Given the description of an element on the screen output the (x, y) to click on. 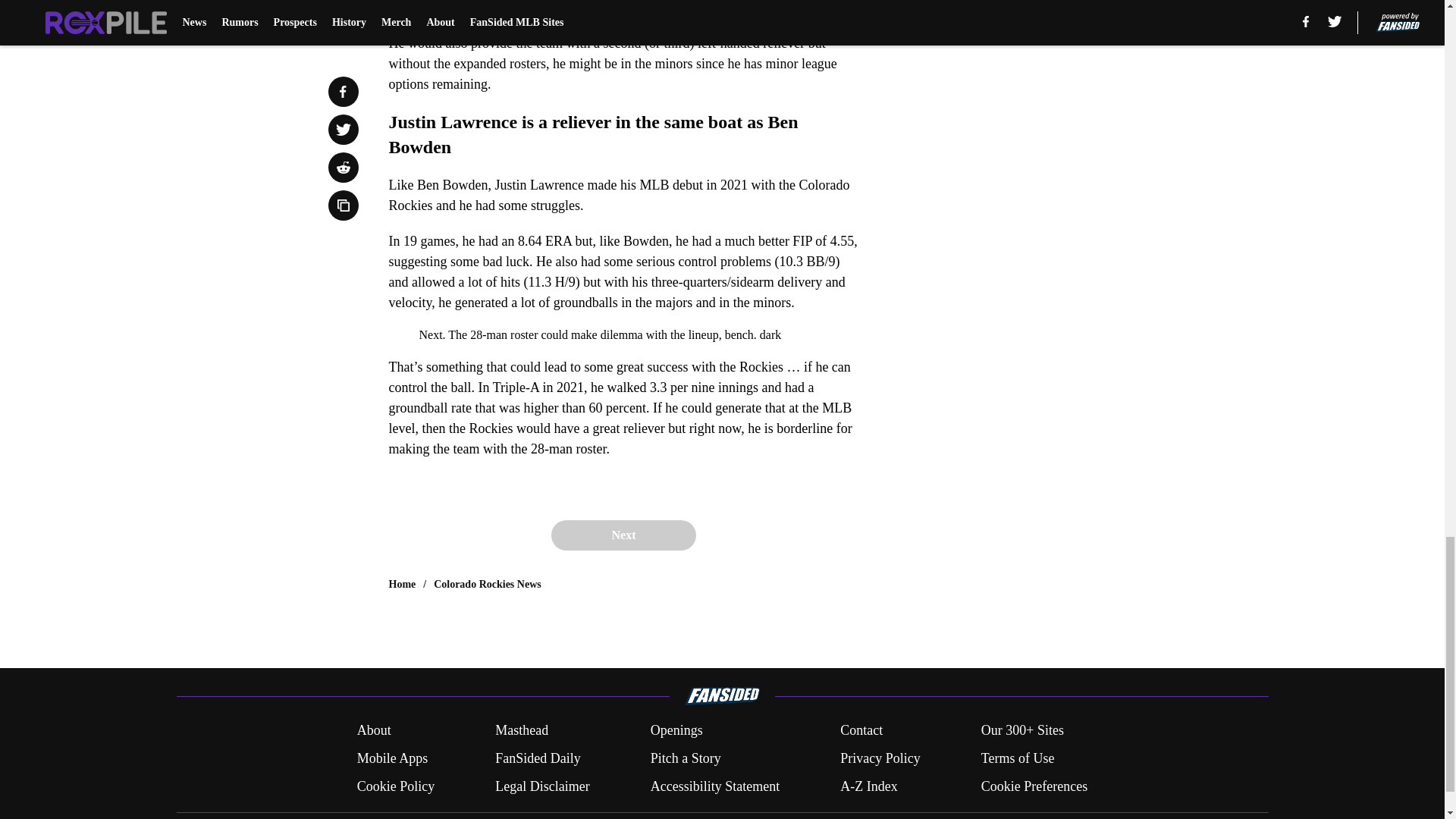
Mobile Apps (392, 758)
A-Z Index (868, 786)
Openings (676, 730)
Terms of Use (1017, 758)
Masthead (521, 730)
Legal Disclaimer (542, 786)
Cookie Preferences (1034, 786)
Colorado Rockies News (487, 584)
FanSided Daily (537, 758)
About (373, 730)
Contact (861, 730)
Privacy Policy (880, 758)
Pitch a Story (685, 758)
Cookie Policy (395, 786)
Accessibility Statement (714, 786)
